Given the description of an element on the screen output the (x, y) to click on. 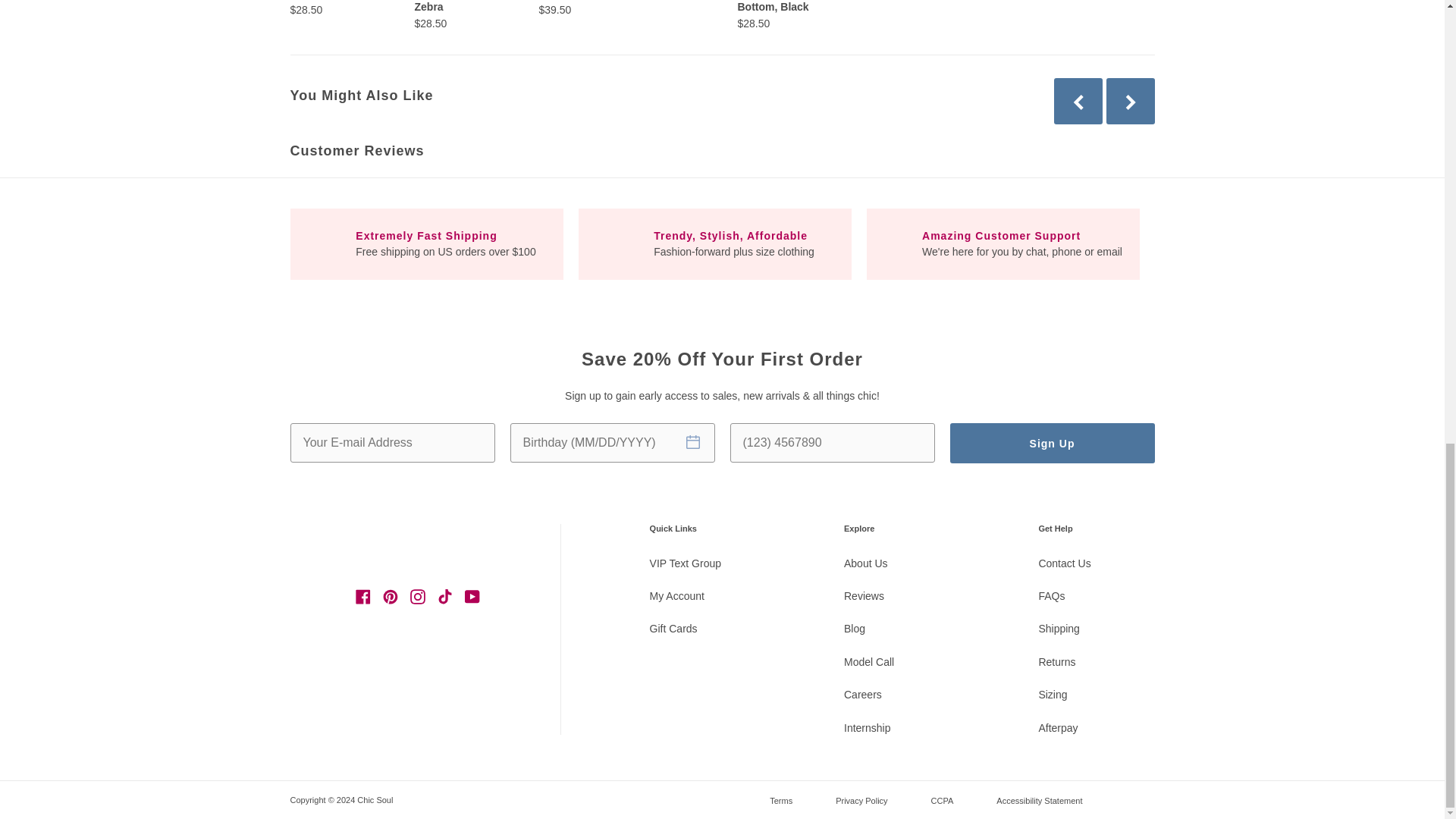
Chic Soul on Instagram (417, 595)
Chic Soul on Pinterest (390, 595)
Chic Soul on TikTok (444, 595)
Chic Soul on YouTube (472, 595)
Sign Up (1051, 443)
Chic Soul on Facebook (363, 595)
